Given the description of an element on the screen output the (x, y) to click on. 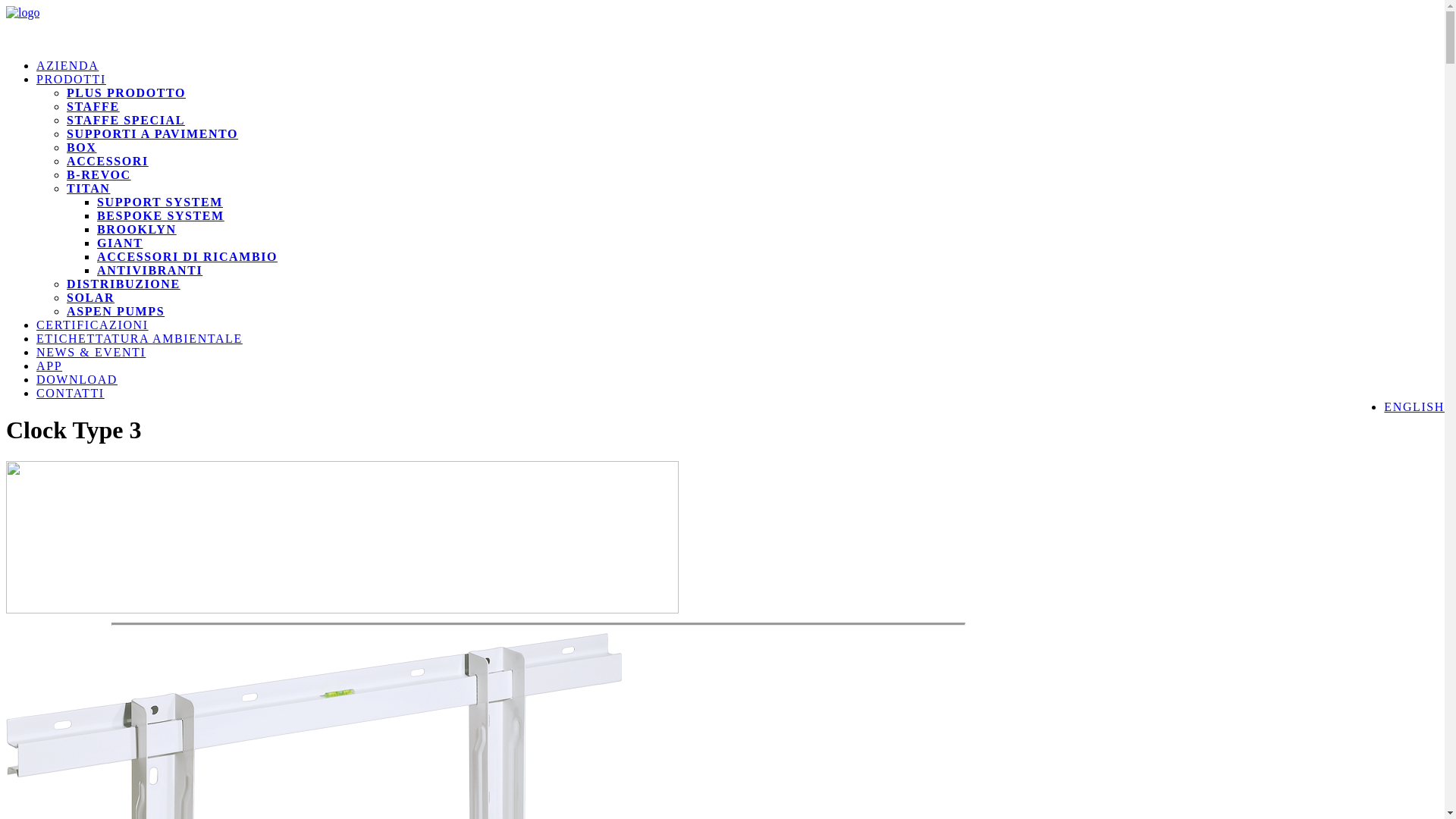
APP Element type: text (49, 365)
ANTIVIBRANTI Element type: text (149, 269)
ENGLISH Element type: text (1413, 406)
AZIENDA Element type: text (67, 65)
BOX Element type: text (81, 147)
STAFFE Element type: text (92, 106)
DOWNLOAD Element type: text (76, 379)
ACCESSORI DI RICAMBIO Element type: text (187, 256)
GIANT Element type: text (119, 242)
ASPEN PUMPS Element type: text (115, 310)
BESPOKE SYSTEM Element type: text (160, 215)
STAFFE SPECIAL Element type: text (125, 119)
PLUS PRODOTTO Element type: text (125, 92)
BROOKLYN Element type: text (136, 228)
SUPPORTI A PAVIMENTO Element type: text (152, 133)
CERTIFICAZIONI Element type: text (92, 324)
PRODOTTI Element type: text (71, 78)
TITAN Element type: text (88, 188)
ACCESSORI Element type: text (107, 160)
NEWS & EVENTI Element type: text (90, 351)
CONTATTI Element type: text (70, 392)
DISTRIBUZIONE Element type: text (123, 283)
B-REVOC Element type: text (98, 174)
SOLAR Element type: text (90, 297)
SUPPORT SYSTEM Element type: text (159, 201)
ETICHETTATURA AMBIENTALE Element type: text (139, 338)
